Given the description of an element on the screen output the (x, y) to click on. 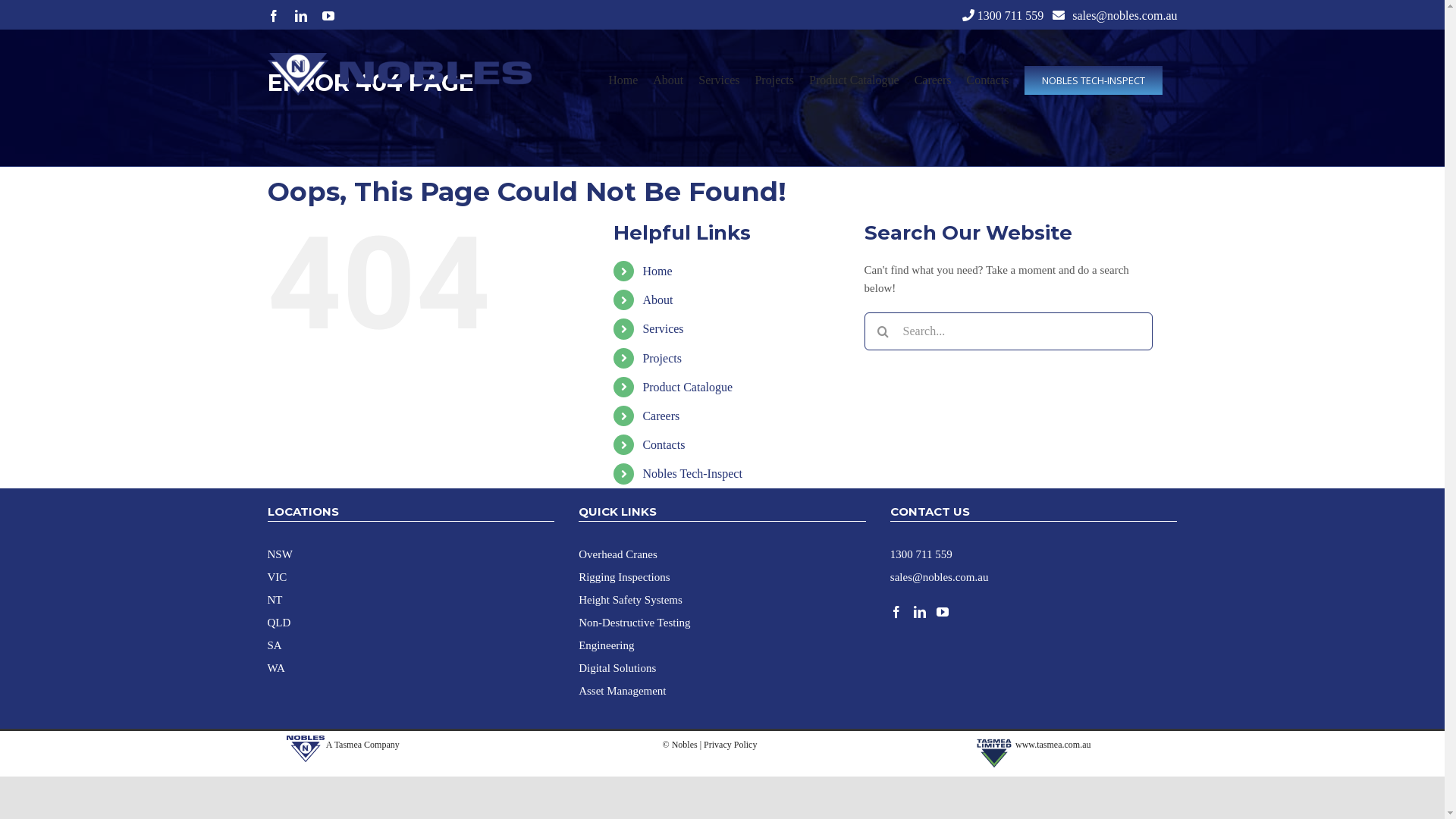
Services Element type: text (662, 328)
NOBLES TECH-INSPECT Element type: text (1092, 80)
YouTube Element type: text (327, 15)
Height Safety Systems Element type: text (630, 599)
NSW Element type: text (278, 553)
QLD Element type: text (278, 621)
sales@nobles.com.au Element type: text (1124, 15)
Product Catalogue Element type: text (687, 386)
Asset Management Element type: text (621, 690)
About Element type: text (657, 299)
Home Element type: text (622, 80)
NT Element type: text (274, 599)
LinkedIn Element type: text (300, 15)
Facebook Element type: text (272, 15)
sales@nobles.com.au Element type: text (939, 576)
Contacts Element type: text (987, 80)
WA Element type: text (275, 667)
VIC Element type: text (276, 576)
1300 711 559 Element type: text (1010, 15)
Careers Element type: text (932, 80)
Non-Destructive Testing Element type: text (634, 621)
1300 711 559 Element type: text (921, 553)
Projects Element type: text (773, 80)
Overhead Cranes Element type: text (617, 553)
Engineering Element type: text (605, 644)
Careers Element type: text (660, 415)
Rigging Inspections Element type: text (623, 576)
Projects Element type: text (661, 357)
Digital Solutions Element type: text (616, 667)
Home Element type: text (656, 270)
SA Element type: text (273, 644)
Nobles Tech-Inspect Element type: text (691, 473)
Product Catalogue Element type: text (854, 80)
Services Element type: text (718, 80)
Contacts Element type: text (663, 444)
About Element type: text (667, 80)
